Given the description of an element on the screen output the (x, y) to click on. 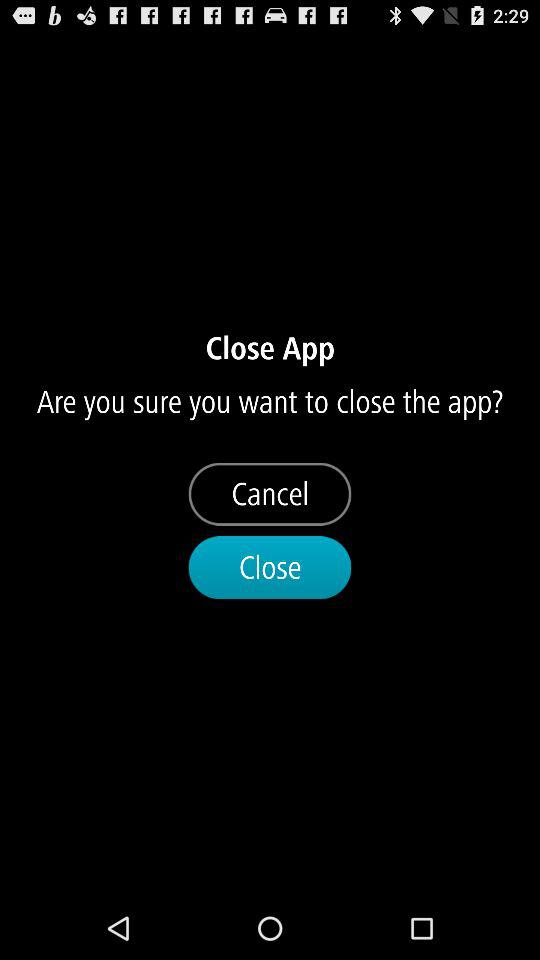
tap icon below the are you sure item (269, 493)
